Given the description of an element on the screen output the (x, y) to click on. 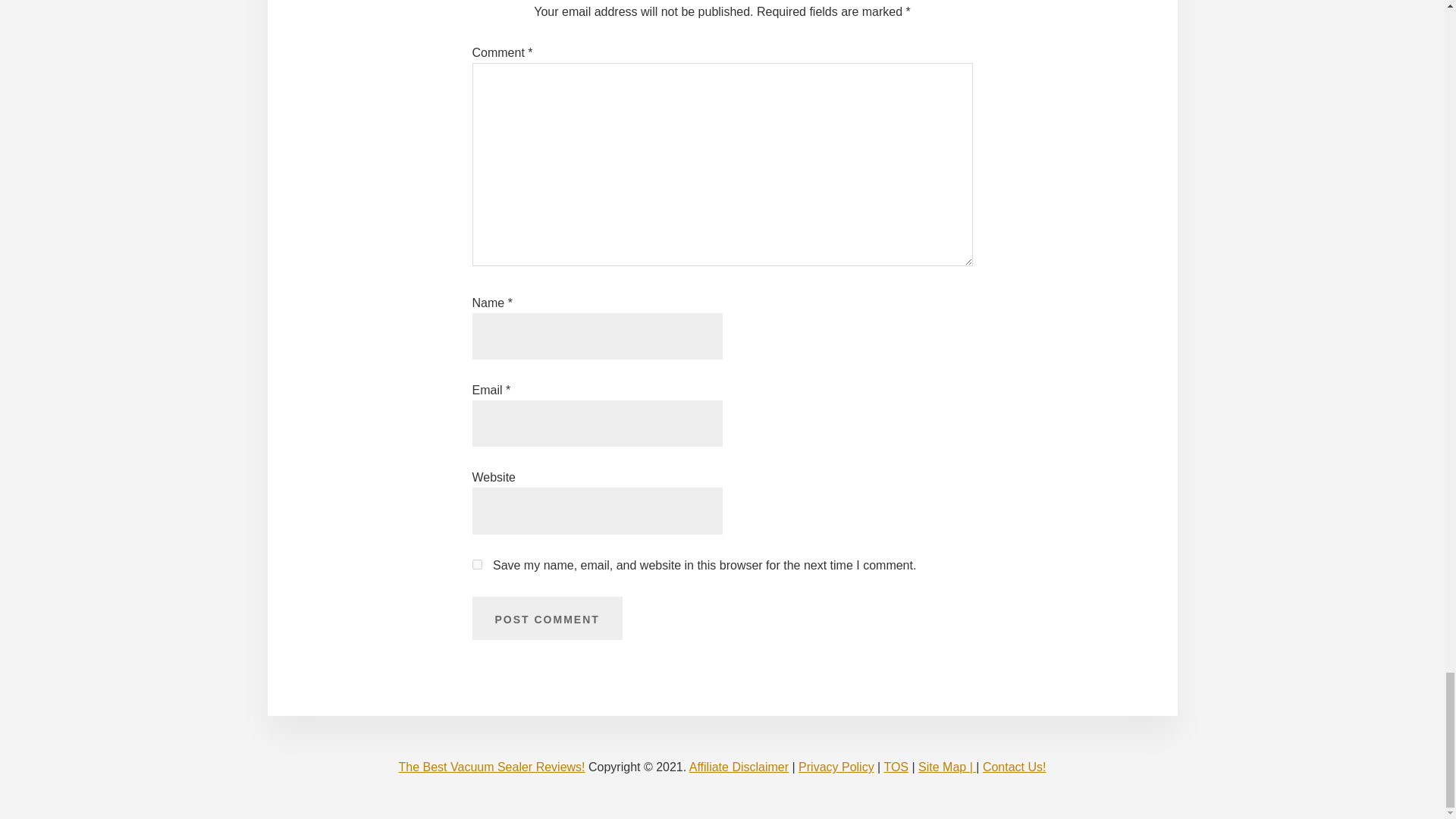
TOS (895, 766)
Contact Us! (1014, 766)
Affiliate Disclaimer (738, 766)
yes (476, 564)
Privacy Policy (836, 766)
The Best Vacuum Sealer Reviews! (491, 766)
Post Comment (546, 618)
Post Comment (546, 618)
 Only Vacuum Sealers (491, 766)
